Given the description of an element on the screen output the (x, y) to click on. 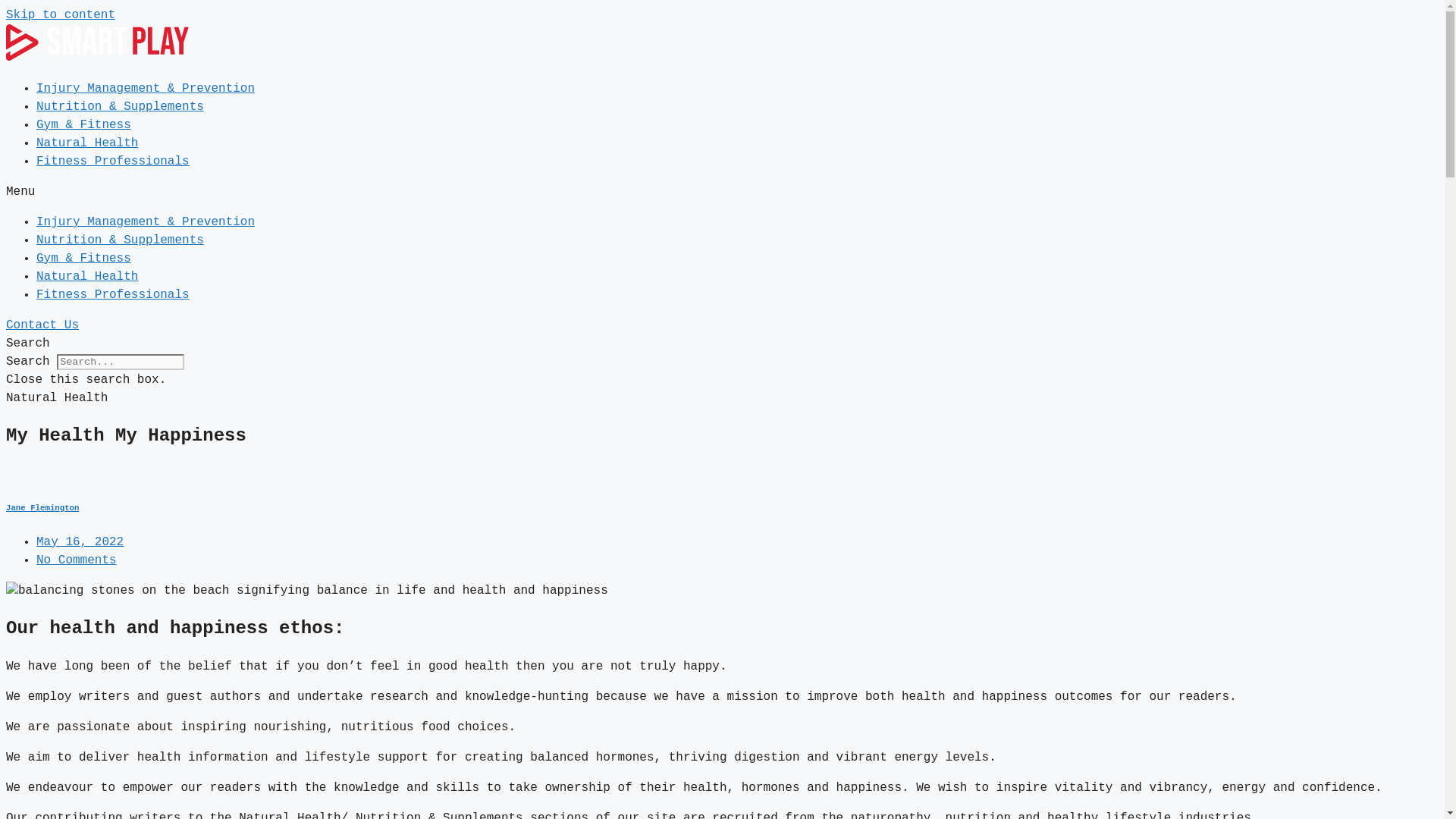
Skip to content Element type: text (60, 14)
Natural Health Element type: text (87, 276)
No Comments Element type: text (76, 560)
Fitness Professionals Element type: text (112, 161)
Natural Health Element type: text (87, 143)
Nutrition & Supplements Element type: text (119, 240)
Gym & Fitness Element type: text (83, 124)
Fitness Professionals Element type: text (112, 294)
Jane Flemington Element type: text (722, 508)
Contact Us Element type: text (42, 325)
Injury Management & Prevention Element type: text (145, 88)
Gym & Fitness Element type: text (83, 258)
Nutrition & Supplements Element type: text (119, 106)
Injury Management & Prevention Element type: text (145, 222)
May 16, 2022 Element type: text (79, 542)
